Given the description of an element on the screen output the (x, y) to click on. 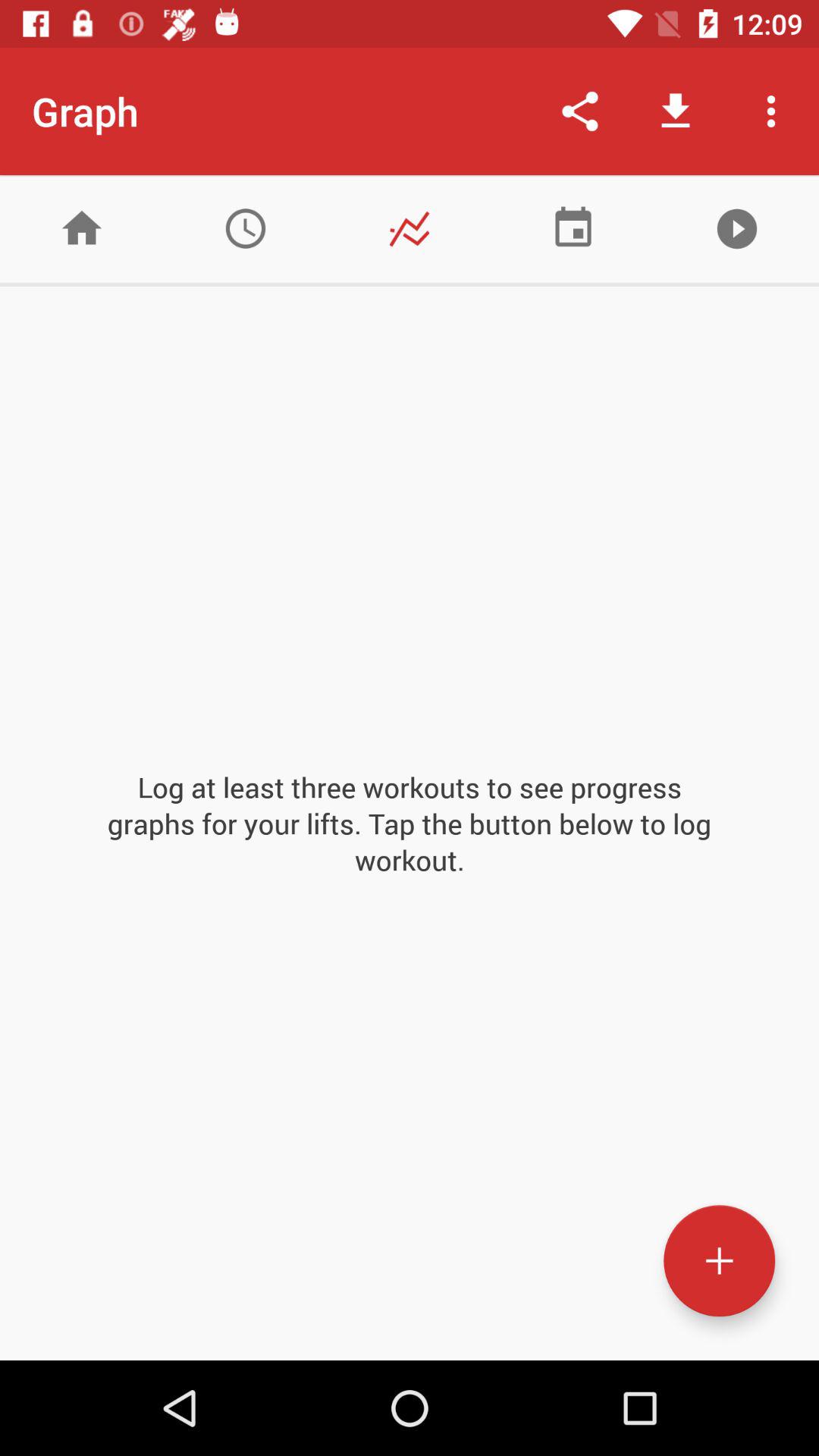
timer image (245, 228)
